Given the description of an element on the screen output the (x, y) to click on. 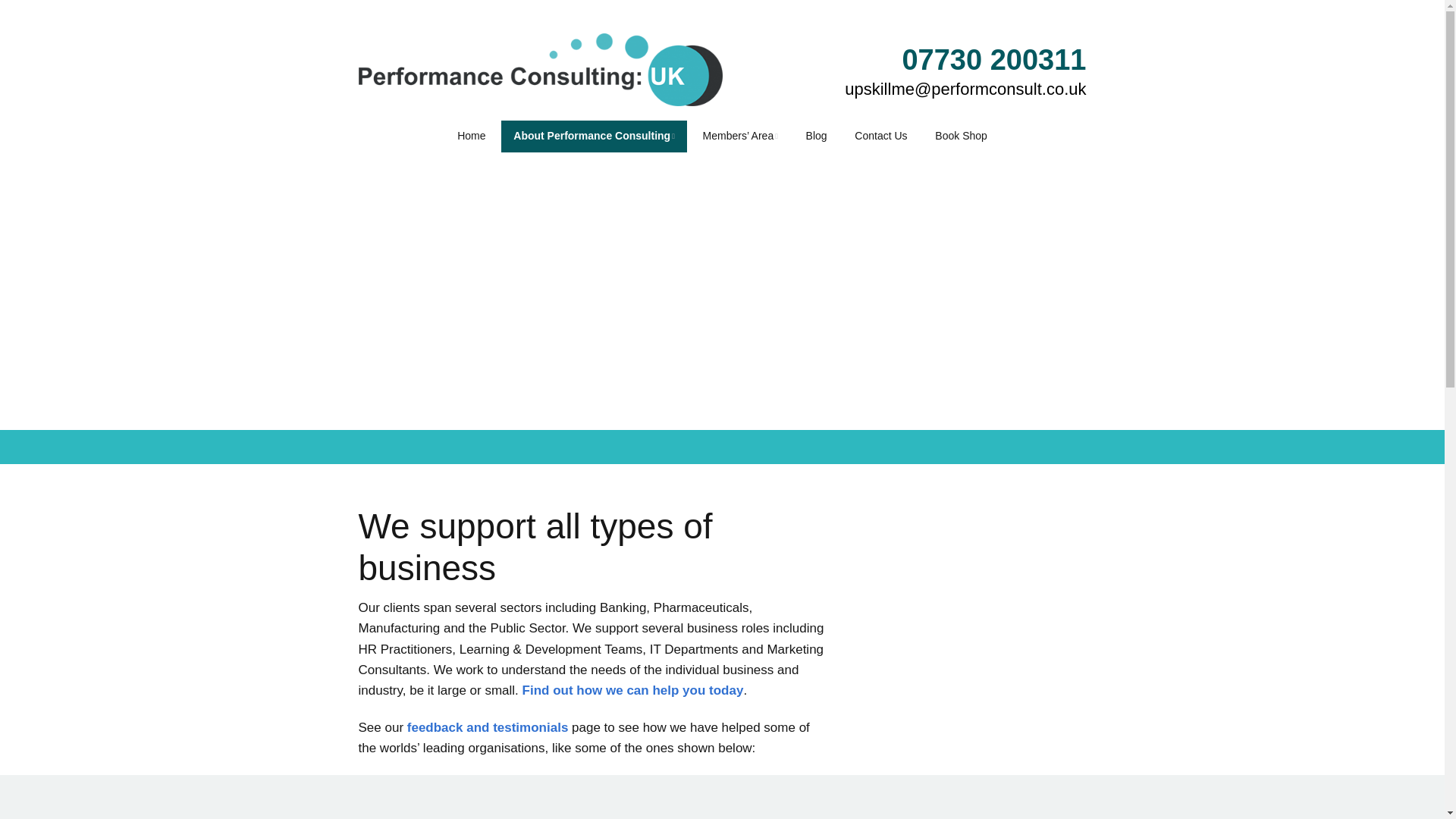
Contact Us (880, 136)
About Performance Consulting (593, 136)
Find out how we can help you today (633, 690)
Home (471, 136)
Blog (816, 136)
Book Shop (960, 136)
feedback and testimonials (488, 727)
